Given the description of an element on the screen output the (x, y) to click on. 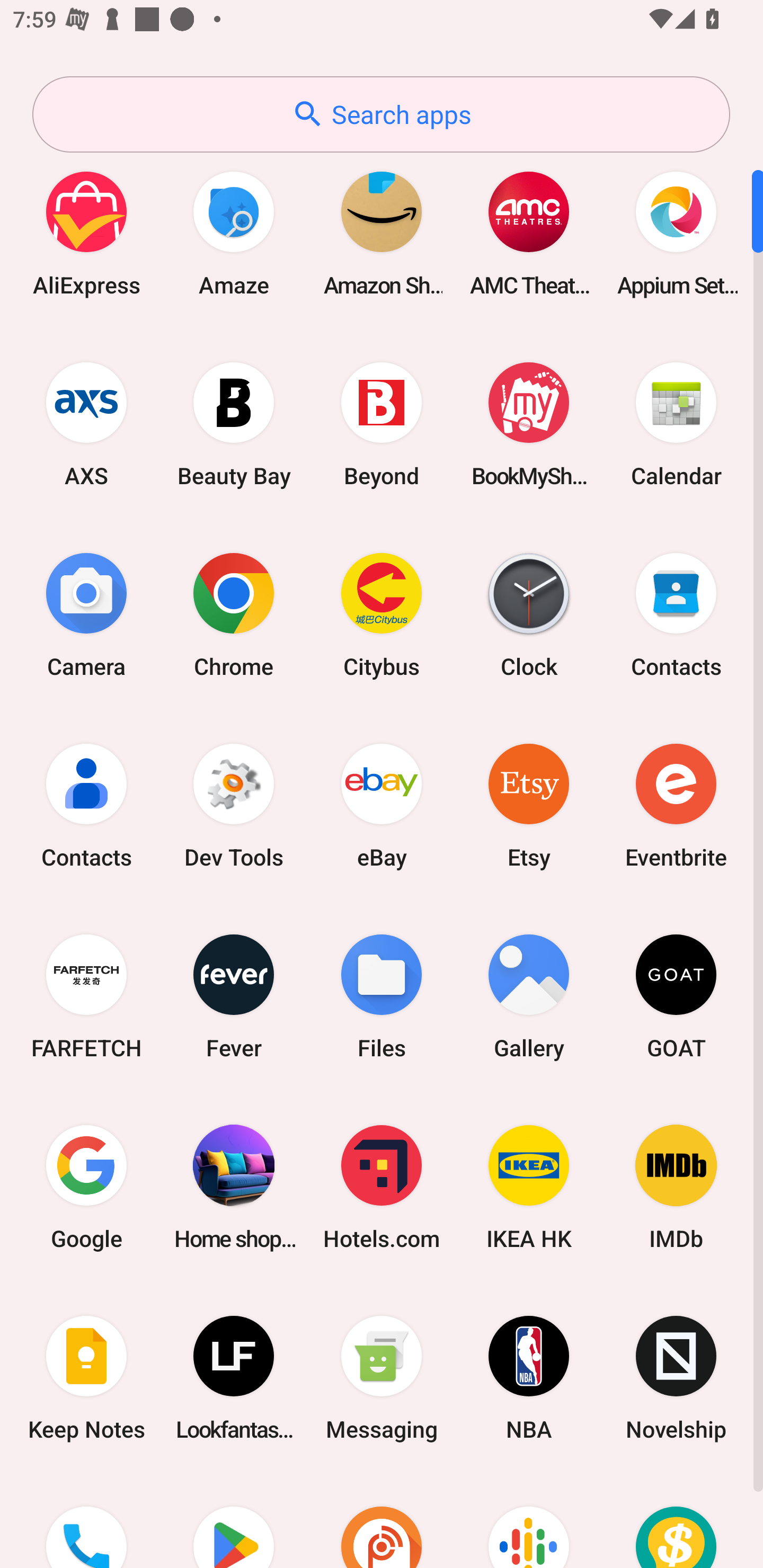
  Search apps (381, 114)
AliExpress (86, 233)
Amaze (233, 233)
Amazon Shopping (381, 233)
AMC Theatres (528, 233)
Appium Settings (676, 233)
AXS (86, 424)
Beauty Bay (233, 424)
Beyond (381, 424)
BookMyShow (528, 424)
Calendar (676, 424)
Camera (86, 614)
Chrome (233, 614)
Citybus (381, 614)
Clock (528, 614)
Contacts (676, 614)
Contacts (86, 805)
Dev Tools (233, 805)
eBay (381, 805)
Etsy (528, 805)
Eventbrite (676, 805)
FARFETCH (86, 996)
Fever (233, 996)
Files (381, 996)
Gallery (528, 996)
GOAT (676, 996)
Google (86, 1186)
Home shopping (233, 1186)
Hotels.com (381, 1186)
IKEA HK (528, 1186)
IMDb (676, 1186)
Keep Notes (86, 1377)
Lookfantastic (233, 1377)
Messaging (381, 1377)
NBA (528, 1377)
Novelship (676, 1377)
Phone (86, 1520)
Play Store (233, 1520)
Podcast Addict (381, 1520)
Podcasts (528, 1520)
Price (676, 1520)
